Given the description of an element on the screen output the (x, y) to click on. 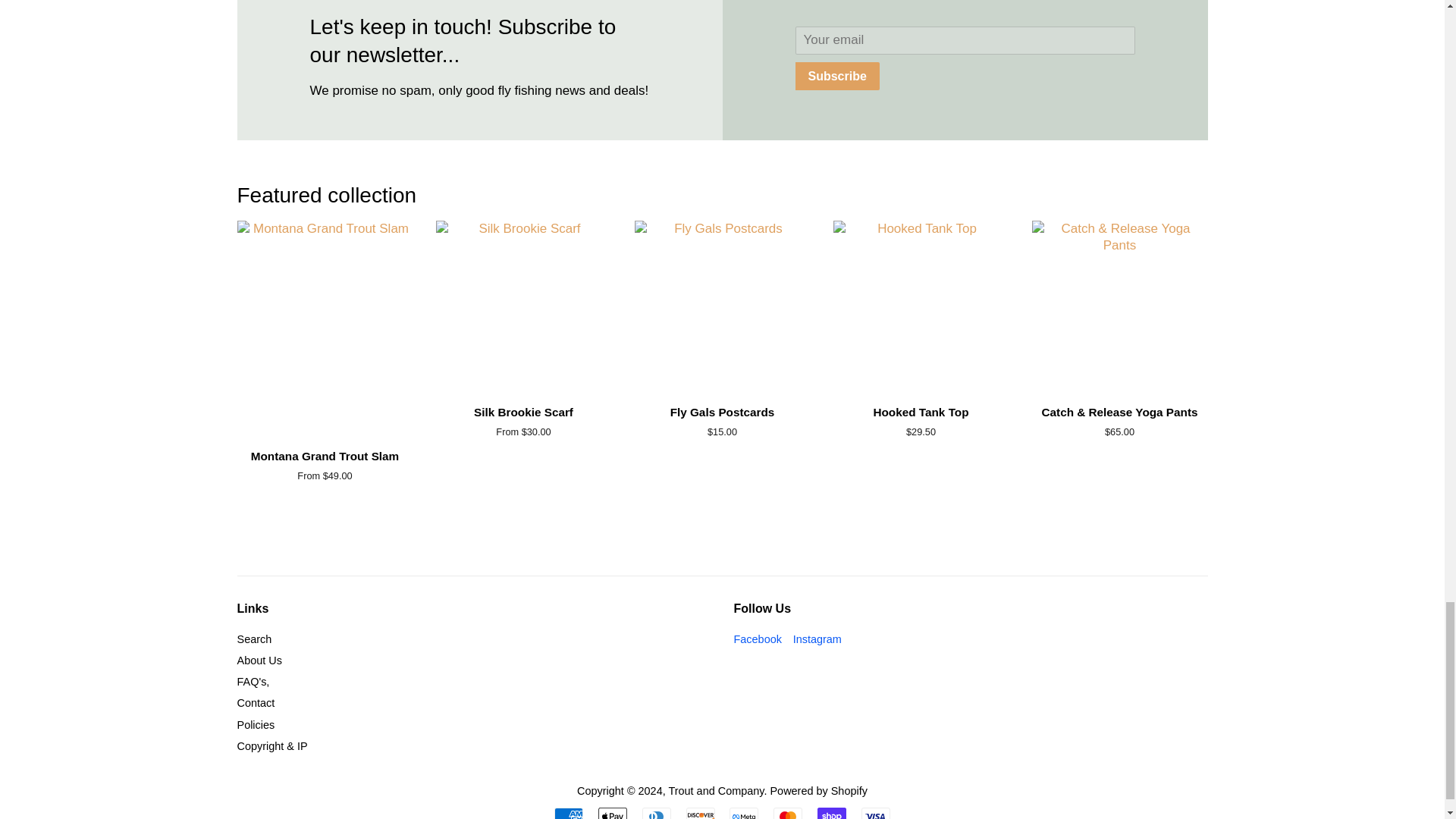
Meta Pay (743, 813)
Search (252, 639)
Shop Pay (830, 813)
About Us (258, 660)
Visa (875, 813)
Subscribe (836, 76)
American Express (568, 813)
Trout and Company on Instagram (817, 639)
Discover (699, 813)
Mastercard (787, 813)
